Given the description of an element on the screen output the (x, y) to click on. 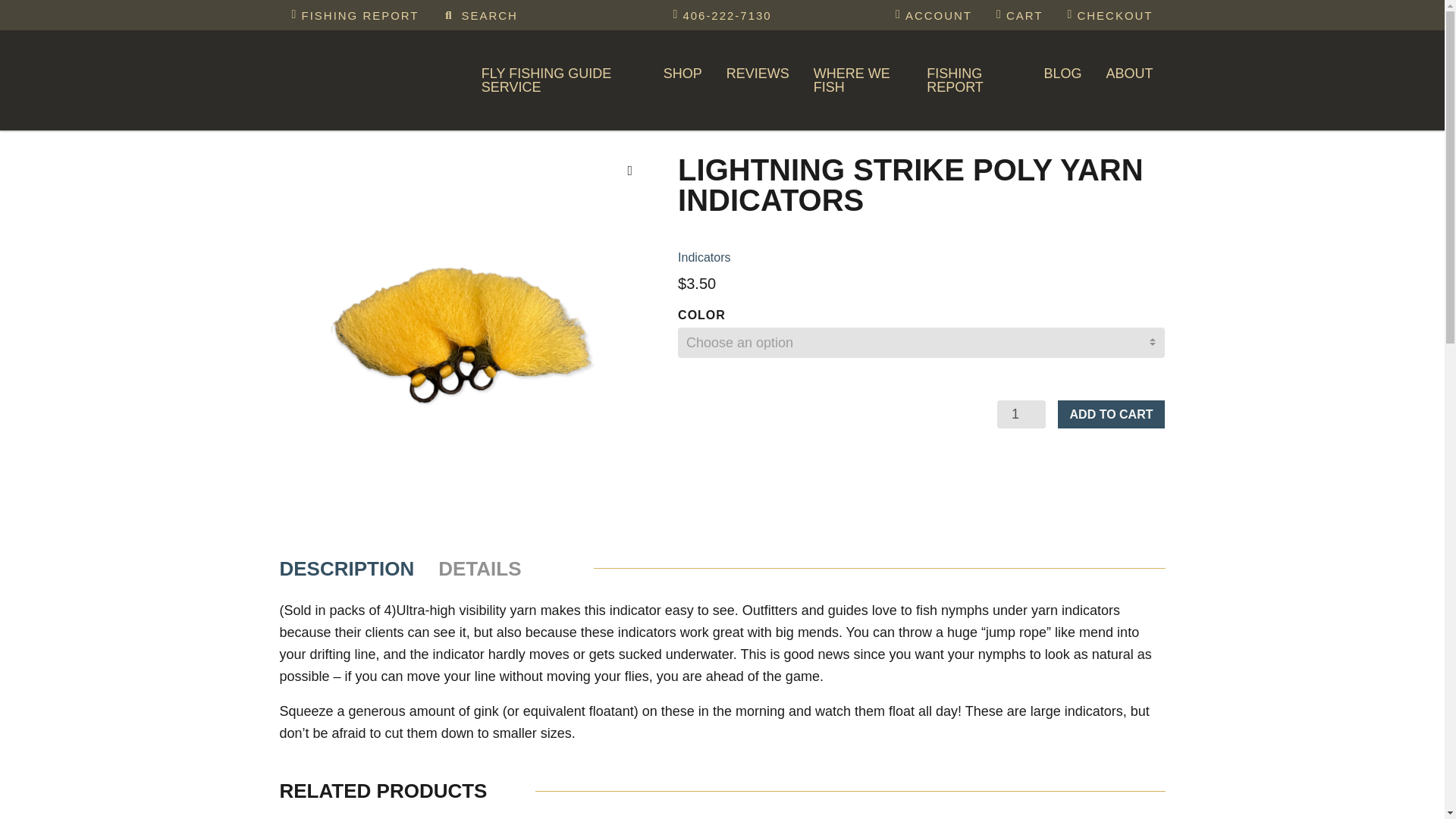
MEET OUR FISHING GUIDES (581, 117)
WHERE WE FISH (858, 80)
SHOP ALL (763, 117)
REVIEWS (758, 73)
ACCOUNT (933, 15)
1 (1021, 414)
406-222-7130 (722, 15)
SHOP (682, 73)
SEARCH (479, 15)
FLY FISHING GUIDE SERVICE (559, 80)
